Given the description of an element on the screen output the (x, y) to click on. 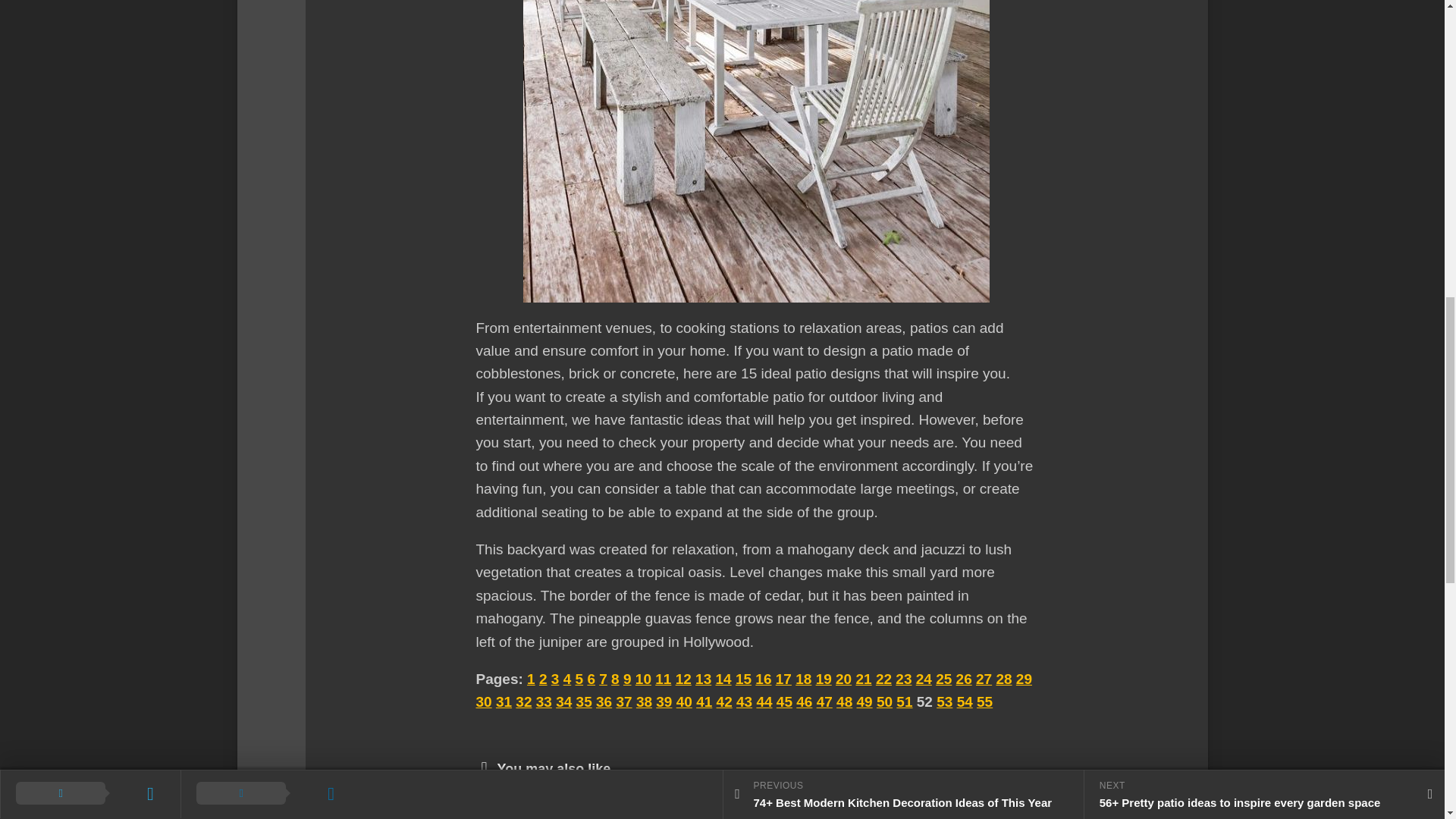
25 (944, 678)
18 (802, 678)
26 (964, 678)
23 (903, 678)
14 (724, 678)
13 (703, 678)
12 (683, 678)
11 (663, 678)
10 (642, 678)
21 (863, 678)
16 (763, 678)
22 (883, 678)
17 (784, 678)
15 (743, 678)
20 (843, 678)
